Given the description of an element on the screen output the (x, y) to click on. 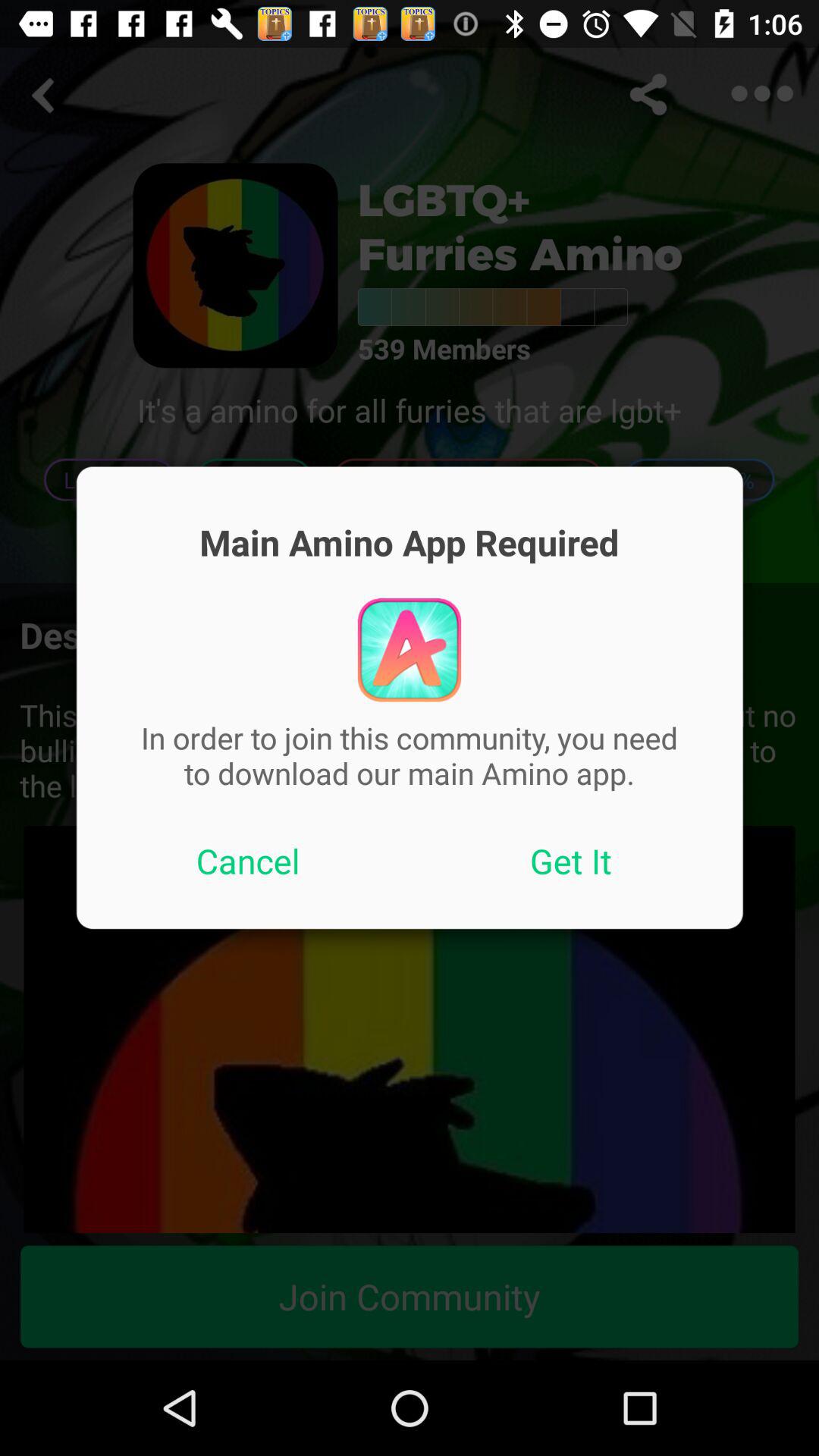
scroll until cancel item (247, 860)
